Given the description of an element on the screen output the (x, y) to click on. 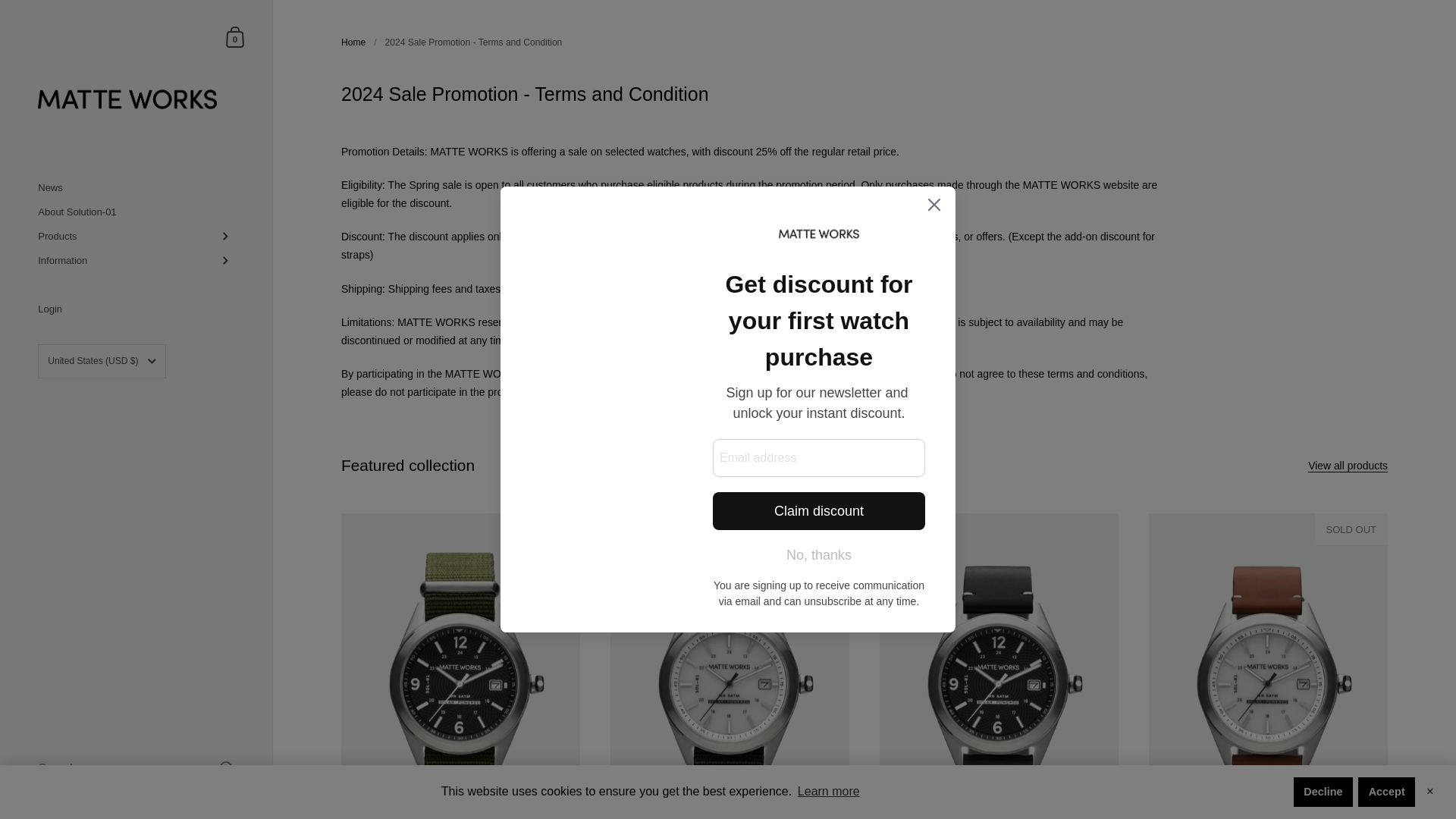
Decline (235, 35)
Shopping Cart (1323, 791)
Learn more (235, 35)
Skip to content (827, 791)
About Solution-01 (136, 236)
Accept (136, 211)
News (1386, 791)
Information (136, 187)
Login (136, 260)
